Given the description of an element on the screen output the (x, y) to click on. 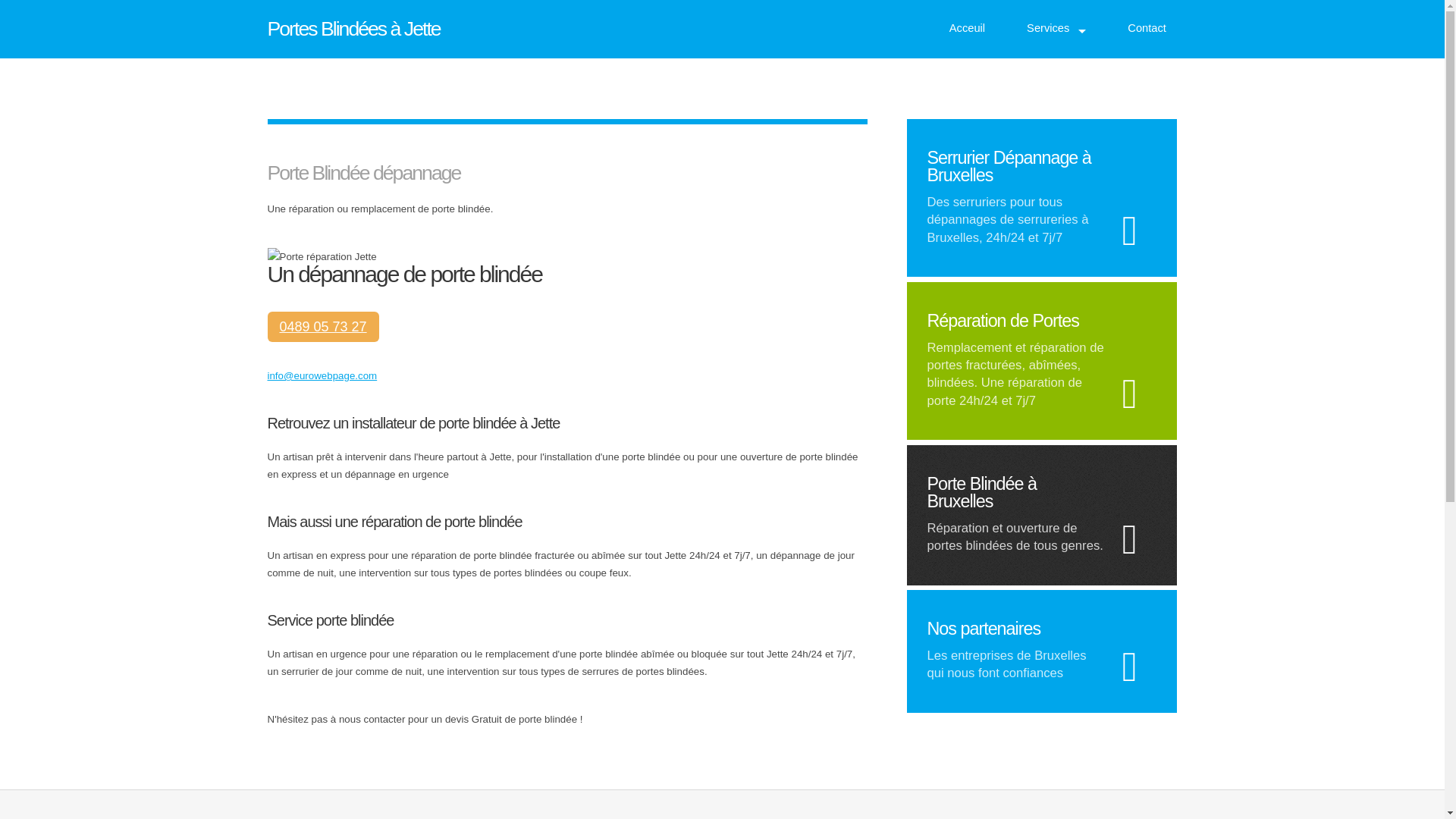
Contact Element type: text (1147, 28)
Services Element type: text (1056, 28)
info@eurowebpage.com Element type: text (321, 375)
Acceuil Element type: text (967, 28)
0489 05 73 27 Element type: text (322, 326)
